Given the description of an element on the screen output the (x, y) to click on. 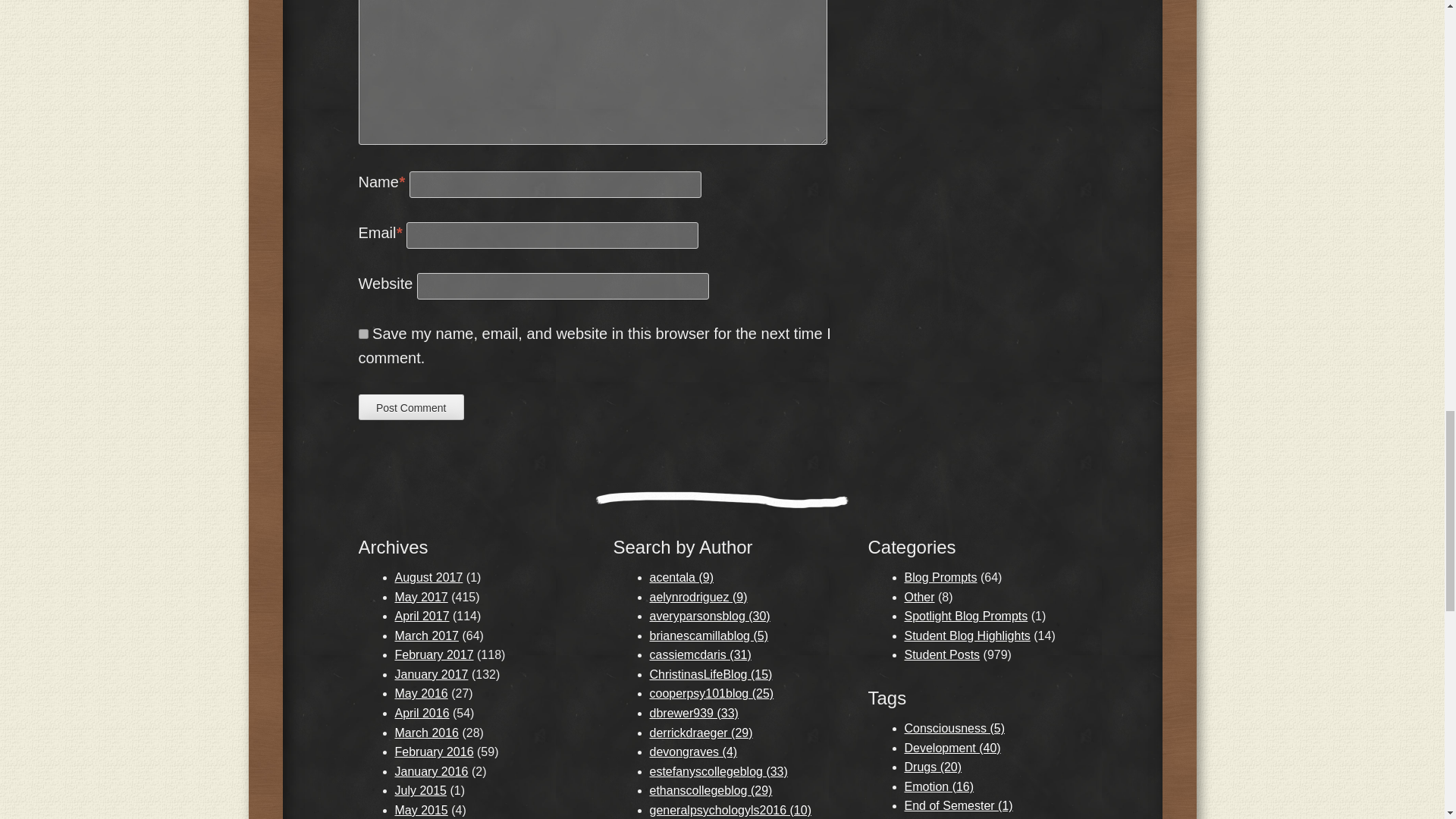
Post Comment (410, 406)
yes (363, 334)
Post Comment (410, 406)
